Given the description of an element on the screen output the (x, y) to click on. 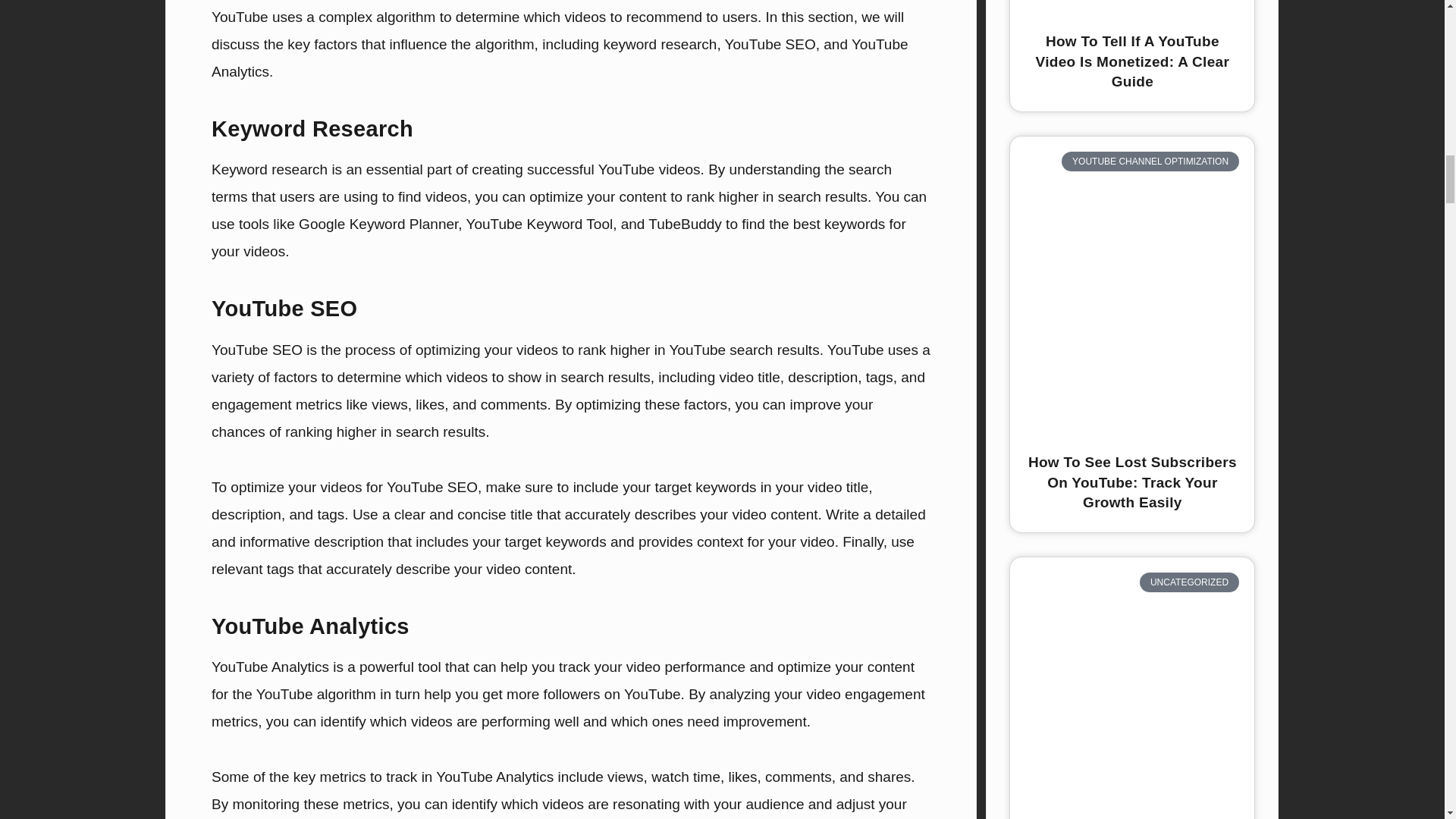
optimizing your videos (485, 349)
YouTube Analytics (559, 57)
watch (669, 776)
YouTube SEO (770, 44)
rank higher in search results (776, 196)
watch (669, 776)
creating successful YouTube videos (585, 169)
